Given the description of an element on the screen output the (x, y) to click on. 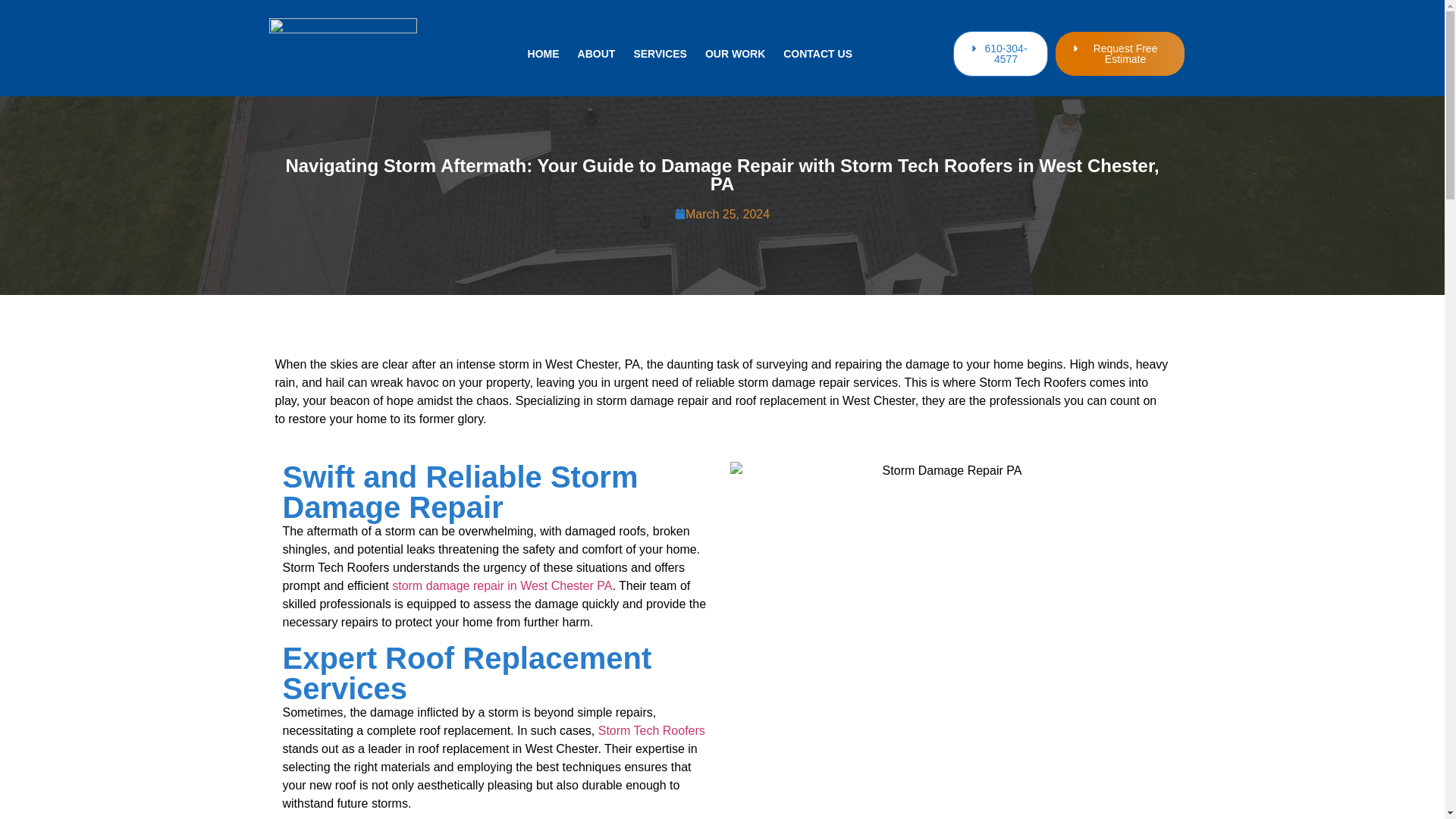
ABOUT (596, 53)
Request Free Estimate (1120, 53)
March 25, 2024 (722, 213)
OUR WORK (734, 53)
Storm Tech Roofers (651, 730)
SERVICES (660, 53)
HOME (543, 53)
CONTACT US (817, 53)
storm damage repair in West Chester PA (501, 585)
610-304-4577 (999, 53)
